Given the description of an element on the screen output the (x, y) to click on. 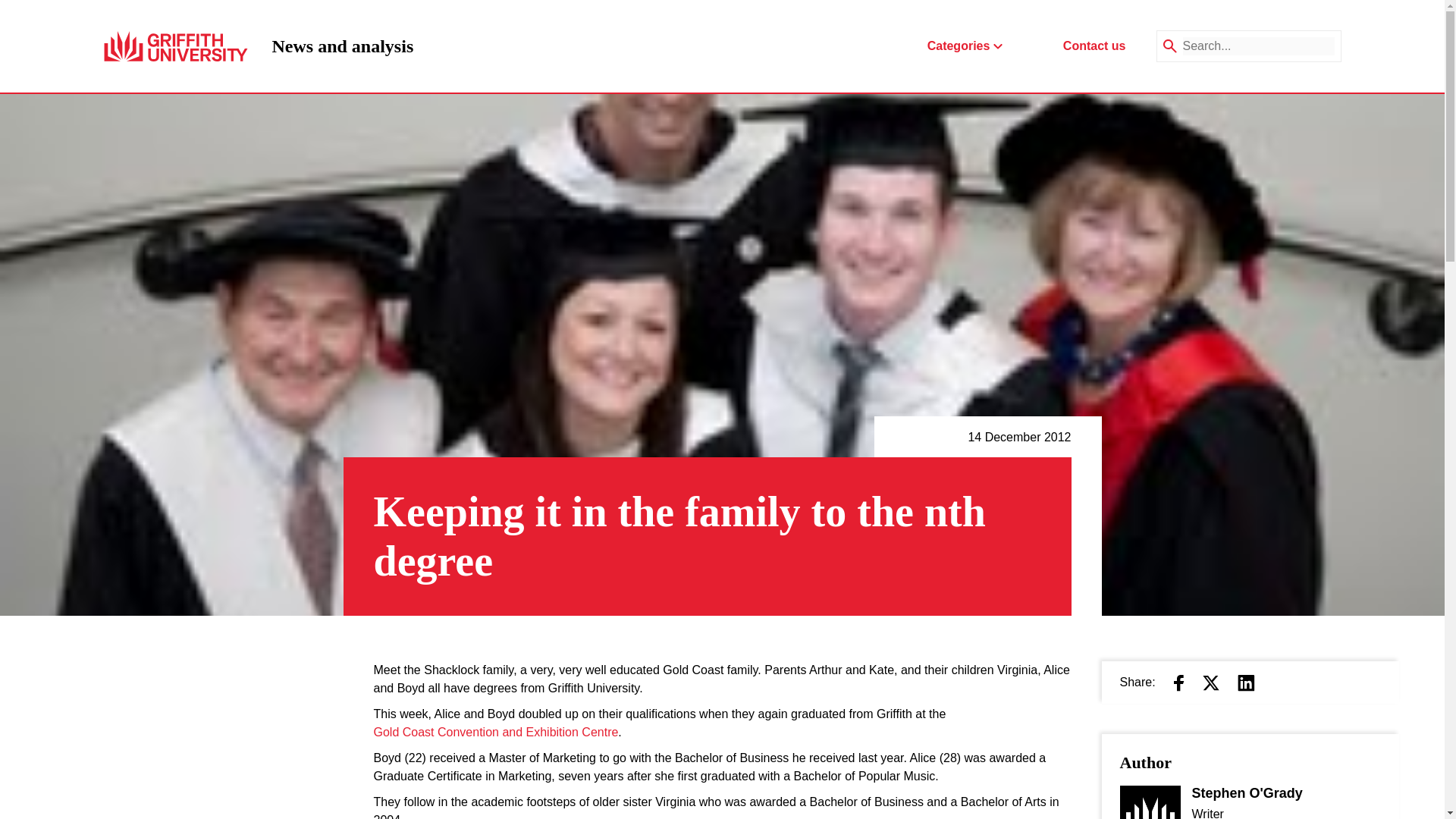
Contact us (1093, 45)
Gold Coast Convention and Exhibition Centre (494, 732)
